Given the description of an element on the screen output the (x, y) to click on. 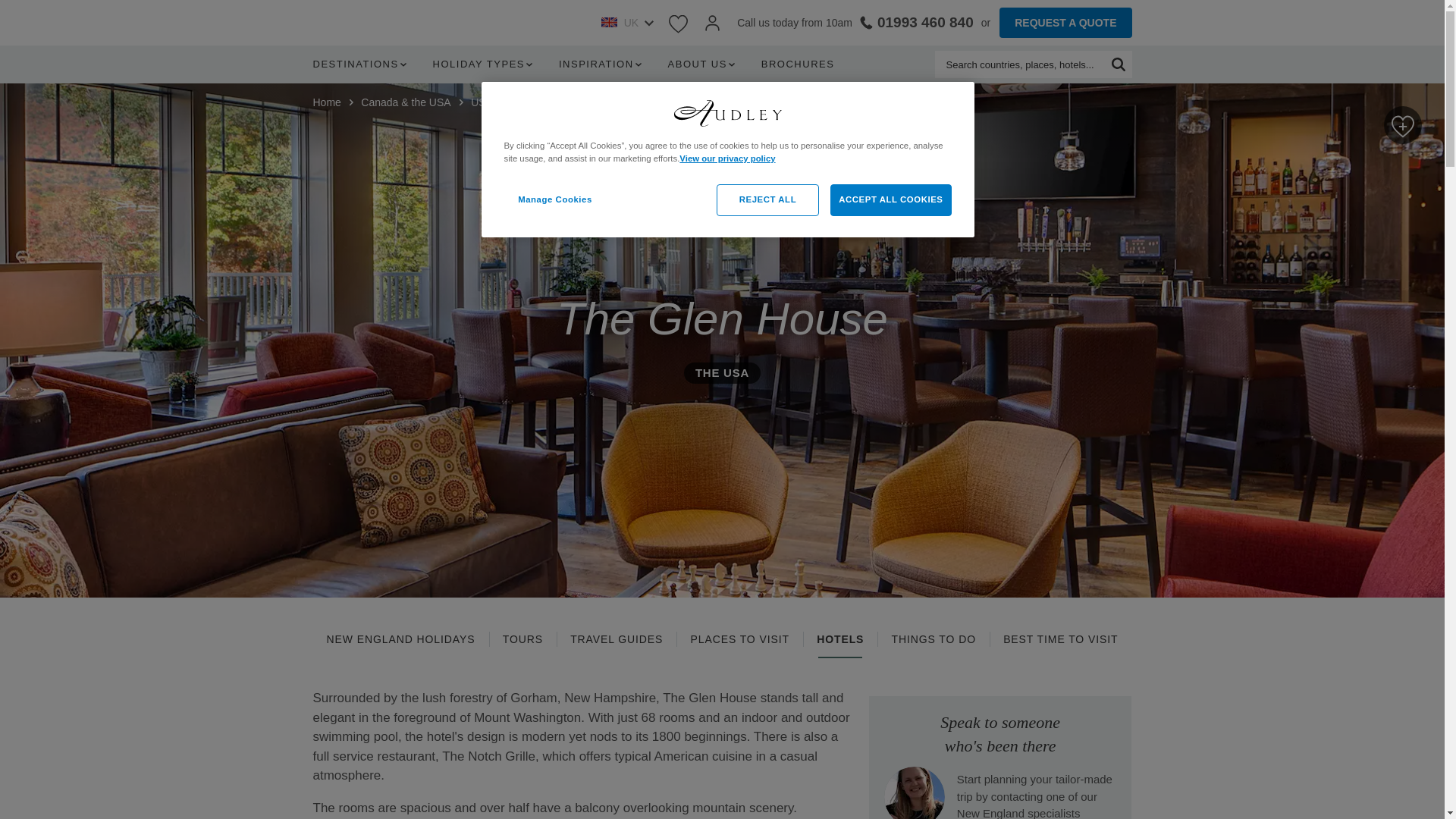
UK (626, 22)
REQUEST A QUOTE (1064, 22)
Add to Favourites (1403, 125)
DESTINATIONS (363, 64)
Company Logo (726, 113)
